Given the description of an element on the screen output the (x, y) to click on. 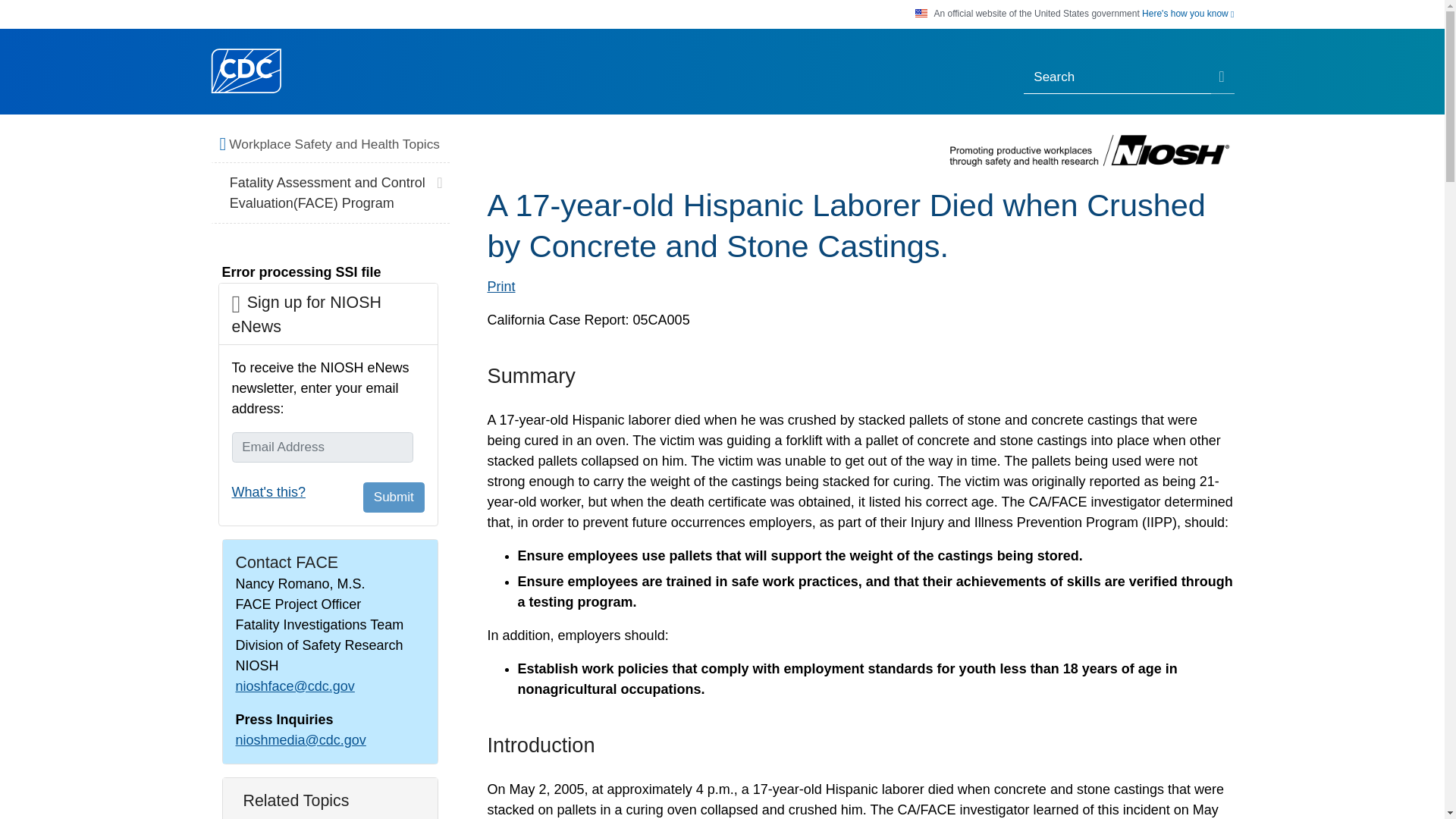
Here's how you know (1187, 14)
Print (500, 286)
Email Address (322, 447)
